Given the description of an element on the screen output the (x, y) to click on. 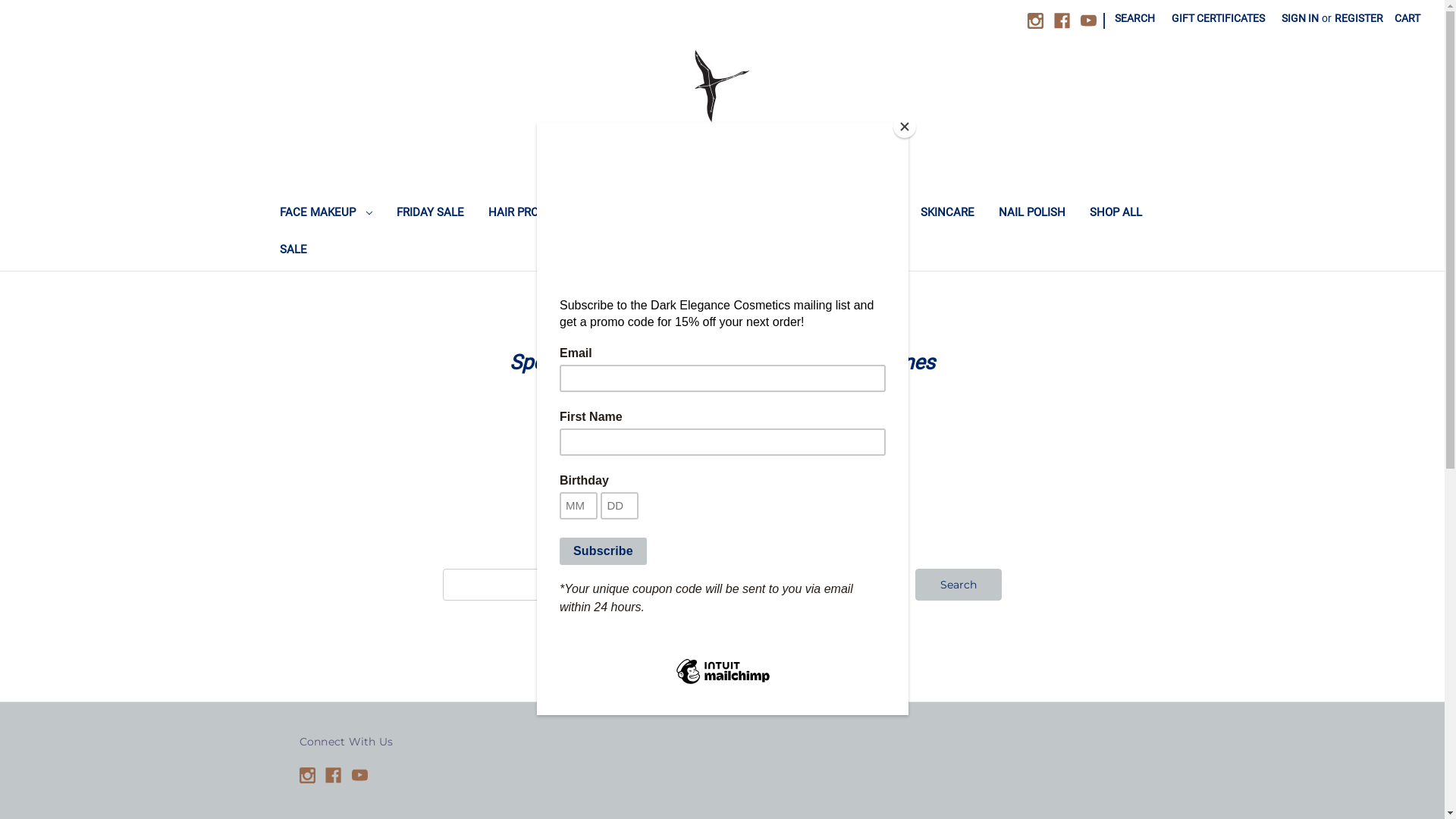
LIP MAKEUP Element type: text (855, 213)
Facebook Element type: hover (1062, 20)
Instagram Element type: hover (306, 775)
SKINCARE Element type: text (947, 213)
CART Element type: text (1407, 18)
Search Element type: text (958, 584)
SHOPPING BAG Element type: text (638, 213)
EYE MAKEUP Element type: text (746, 213)
GIFT CERTIFICATES Element type: text (1218, 18)
SIGN IN Element type: text (1300, 18)
SEARCH Element type: text (1134, 18)
HAIR PRODUCTS Element type: text (531, 213)
NAIL POLISH Element type: text (1031, 213)
Instagram Element type: hover (1035, 20)
Youtube Element type: hover (1088, 20)
Facebook Element type: hover (333, 775)
FACE MAKEUP Element type: text (325, 213)
Error Element type: text (739, 449)
SHOP ALL Element type: text (1115, 213)
SALE Element type: text (292, 250)
FRIDAY SALE Element type: text (430, 213)
Home Element type: text (705, 449)
REGISTER Element type: text (1358, 18)
Youtube Element type: hover (359, 775)
